Given the description of an element on the screen output the (x, y) to click on. 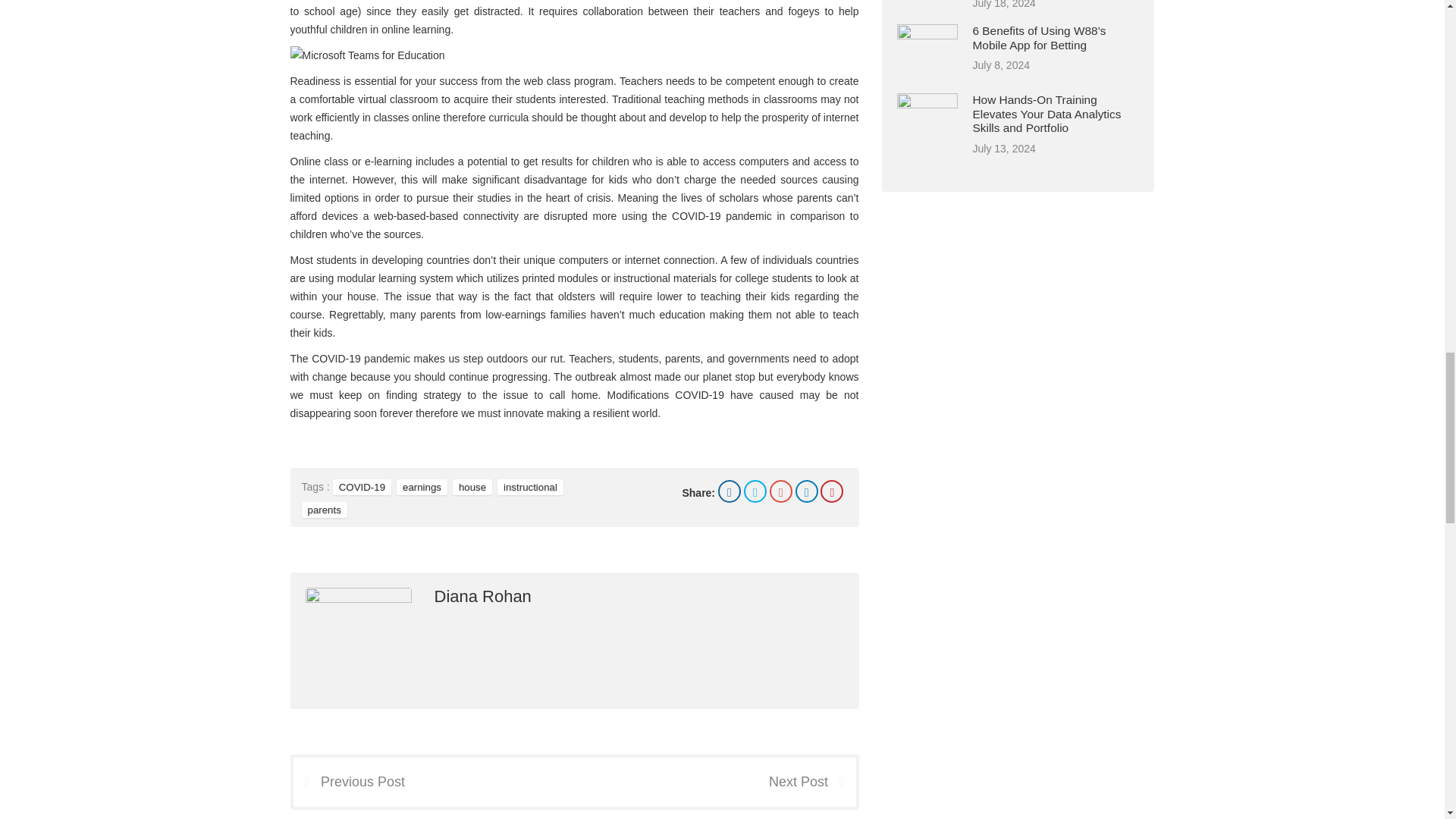
COVID-19 (362, 487)
house (472, 487)
parents (324, 509)
Twitter (755, 490)
Linkedin (806, 490)
Google Plus (781, 490)
Pinterest (832, 490)
earnings (421, 487)
Facebook (729, 490)
instructional (530, 487)
